Given the description of an element on the screen output the (x, y) to click on. 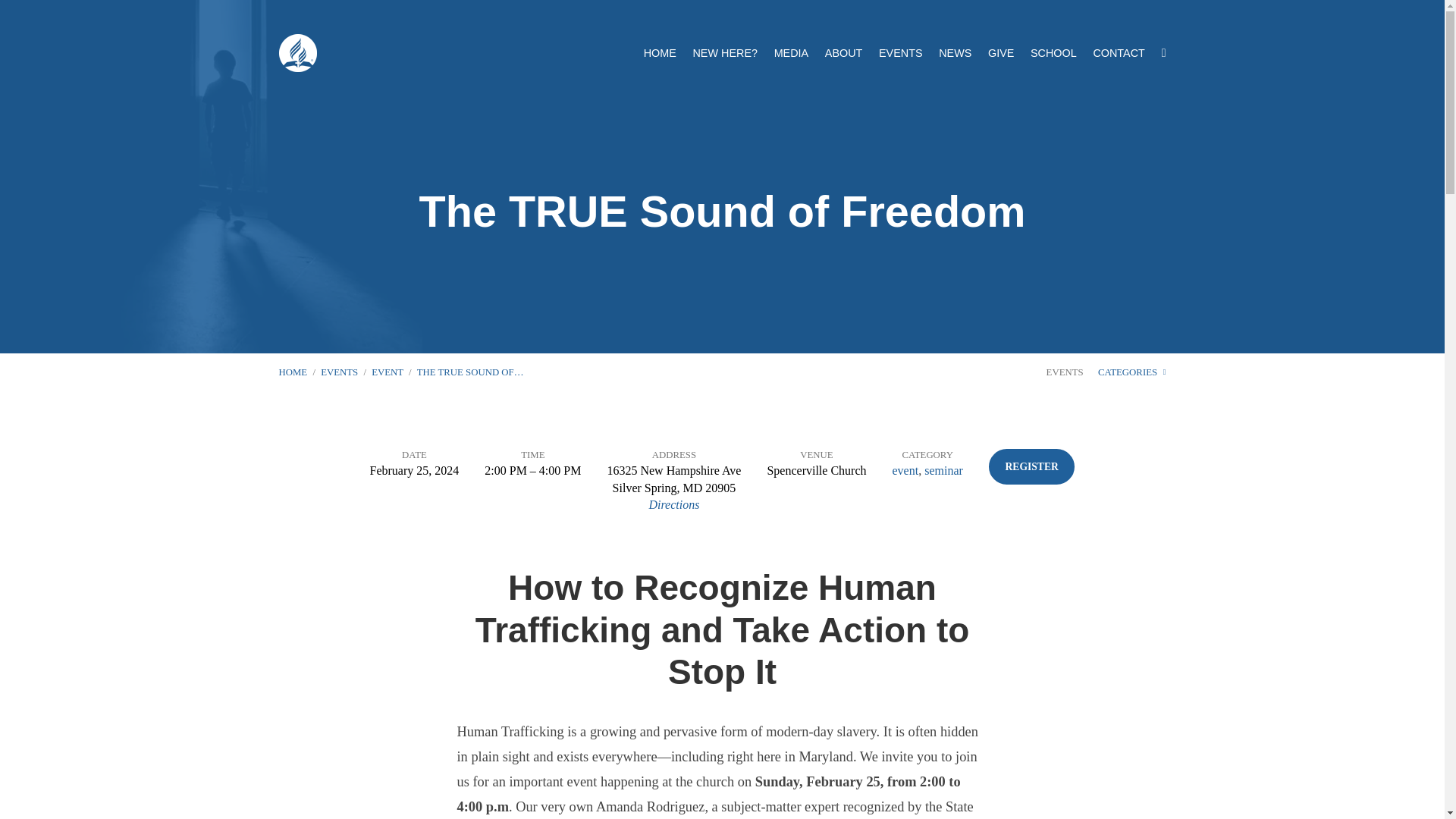
EVENTS (339, 371)
ABOUT (844, 52)
event (905, 470)
NEW HERE? (725, 52)
EVENT (387, 371)
MEDIA (791, 52)
HOME (660, 52)
REGISTER (1031, 466)
CATEGORIES (1131, 371)
SCHOOL (1053, 52)
Directions (672, 504)
GIVE (1000, 52)
HOME (293, 371)
NEWS (955, 52)
CONTACT (1118, 52)
